Given the description of an element on the screen output the (x, y) to click on. 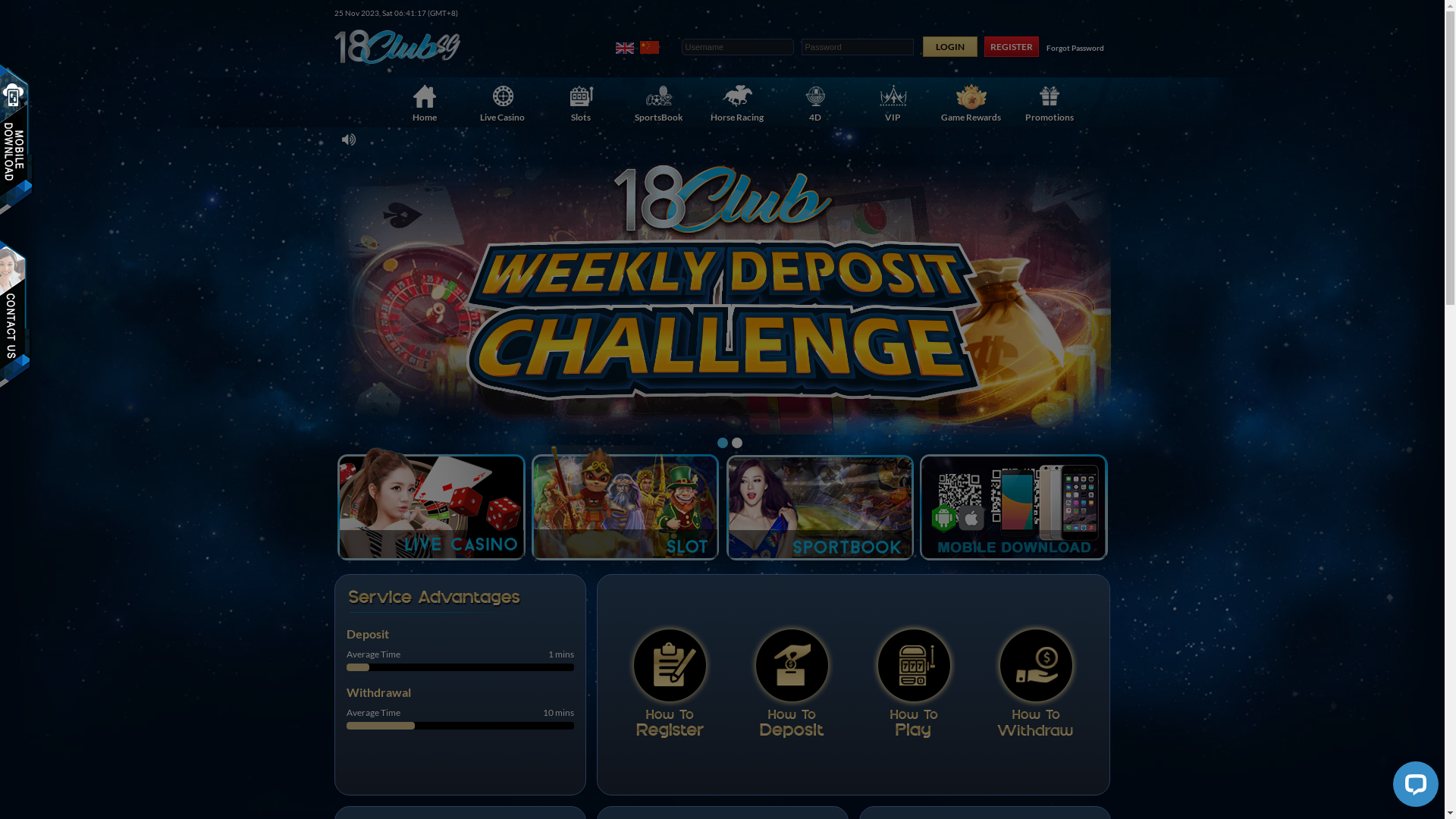
prev Element type: text (378, 341)
Forgot Password Element type: text (1075, 47)
REGISTER Element type: text (1011, 46)
Horse Racing Element type: text (736, 102)
next Element type: text (1065, 341)
Slots Element type: text (580, 102)
VIP Element type: text (893, 102)
4D Element type: text (815, 102)
SportsBook Element type: text (658, 102)
Live Casino Element type: text (502, 102)
Promotions Element type: text (1049, 102)
LOGIN Element type: text (949, 46)
Game Rewards Element type: text (971, 102)
Home Element type: text (424, 102)
